Given the description of an element on the screen output the (x, y) to click on. 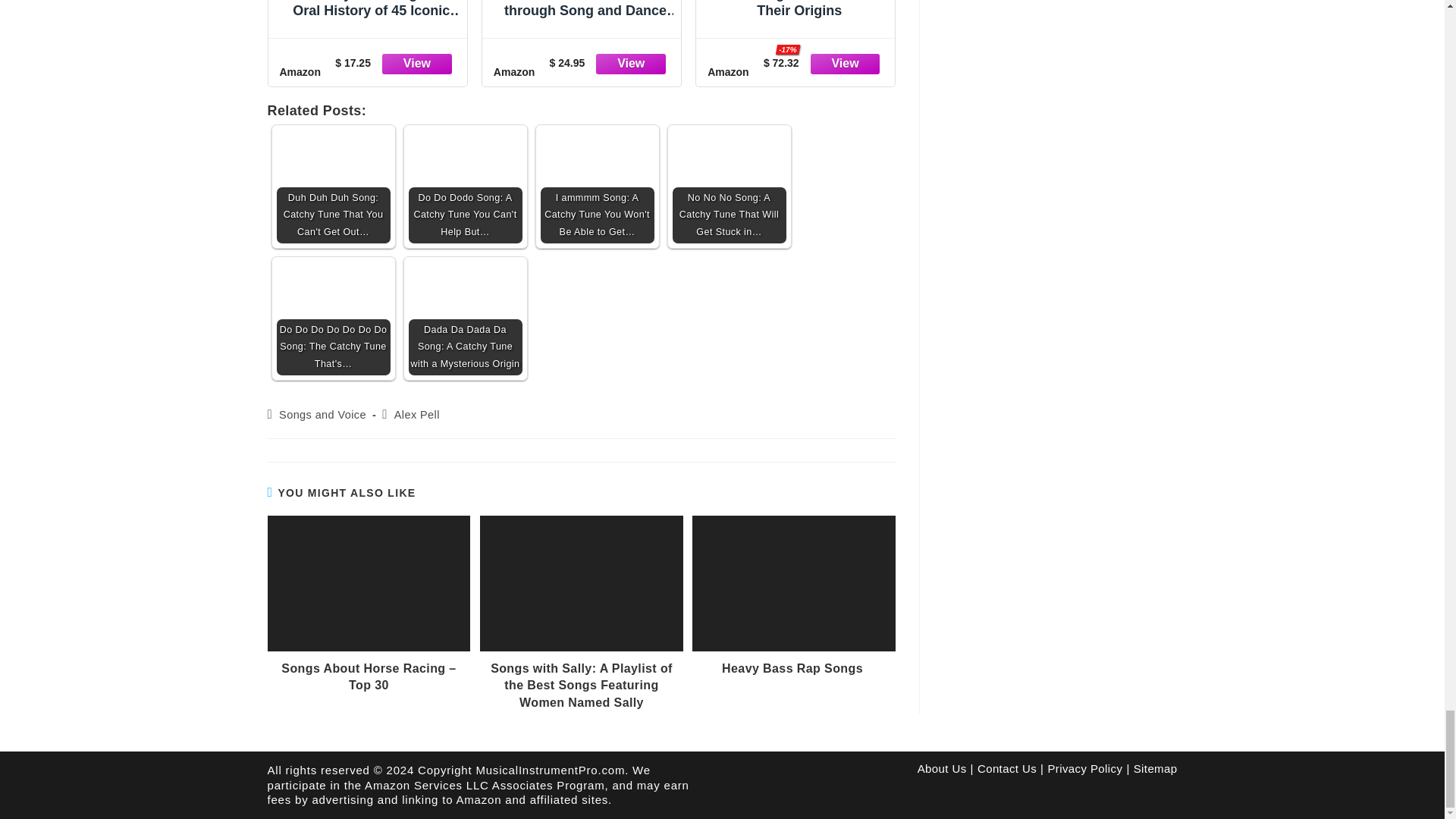
Dada Da Dada Da Song: A Catchy Tune with a Mysterious Origin (464, 318)
Posts by Alex Pell (416, 414)
